Given the description of an element on the screen output the (x, y) to click on. 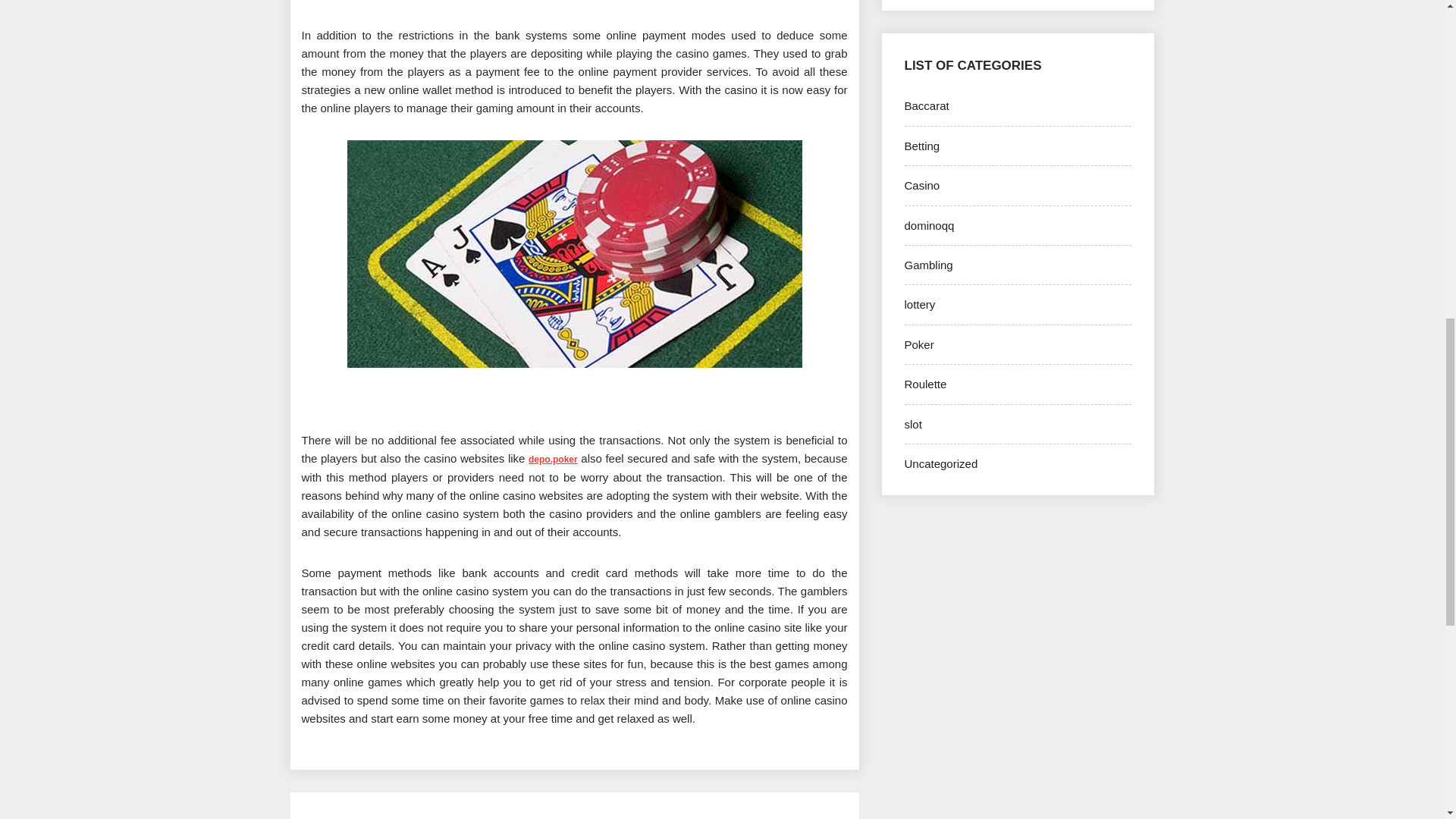
depo.poker (553, 458)
Baccarat (926, 105)
dominoqq (928, 225)
Betting (921, 145)
lottery (919, 304)
slot (912, 423)
Gambling (928, 264)
Roulette (925, 383)
Poker (918, 344)
Casino (921, 185)
